Given the description of an element on the screen output the (x, y) to click on. 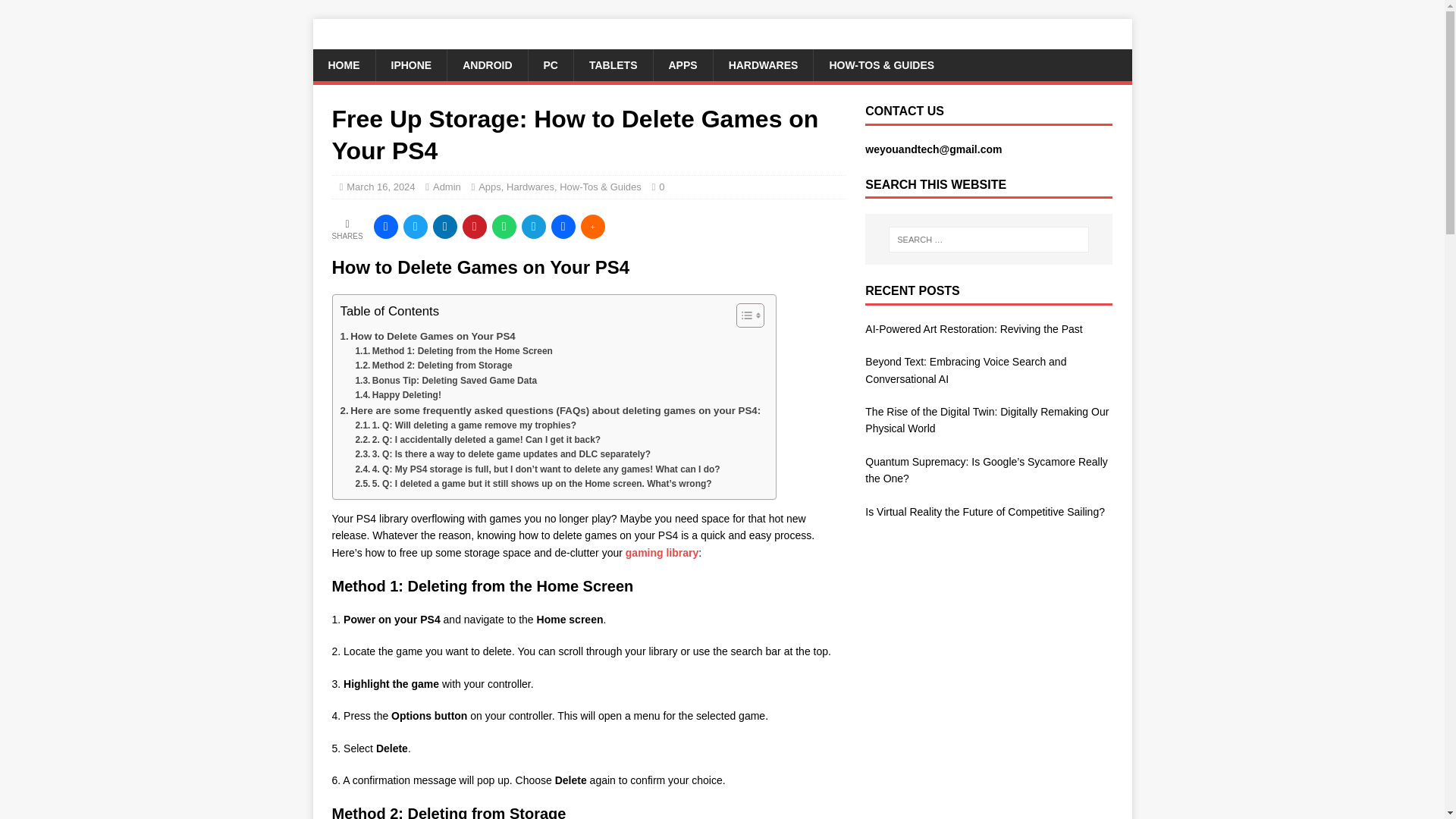
ANDROID (486, 65)
How to Delete Games on Your PS4 (427, 335)
IPHONE (410, 65)
WhatsApp (504, 226)
Facebook messenger (563, 226)
APPS (681, 65)
HARDWARES (763, 65)
Method 1: Deleting from the Home Screen (453, 350)
Submit this to Pinterest (474, 226)
PC (550, 65)
